Given the description of an element on the screen output the (x, y) to click on. 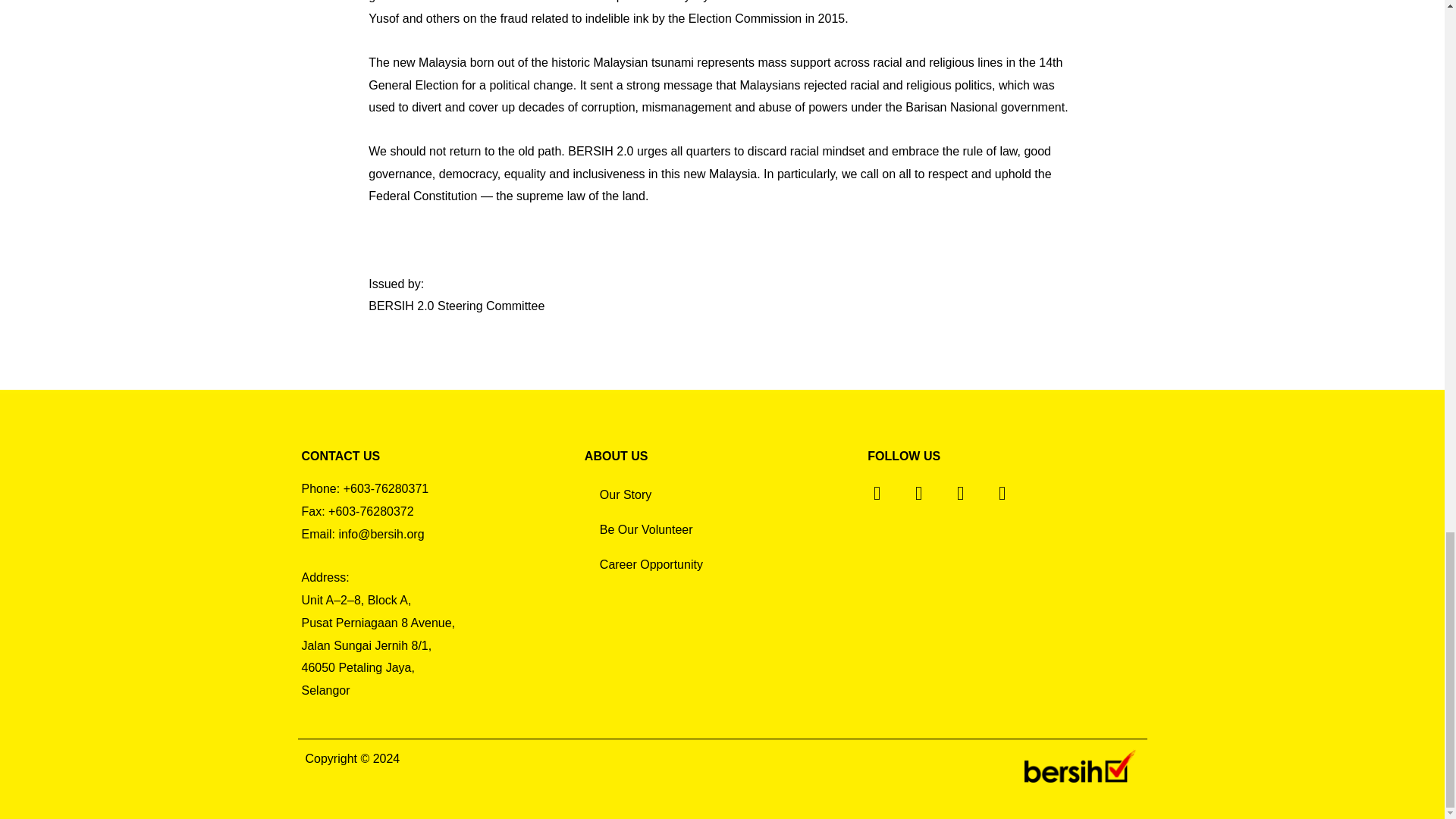
Career Opportunity (722, 564)
Our Story (722, 494)
Be Our Volunteer (722, 529)
